Given the description of an element on the screen output the (x, y) to click on. 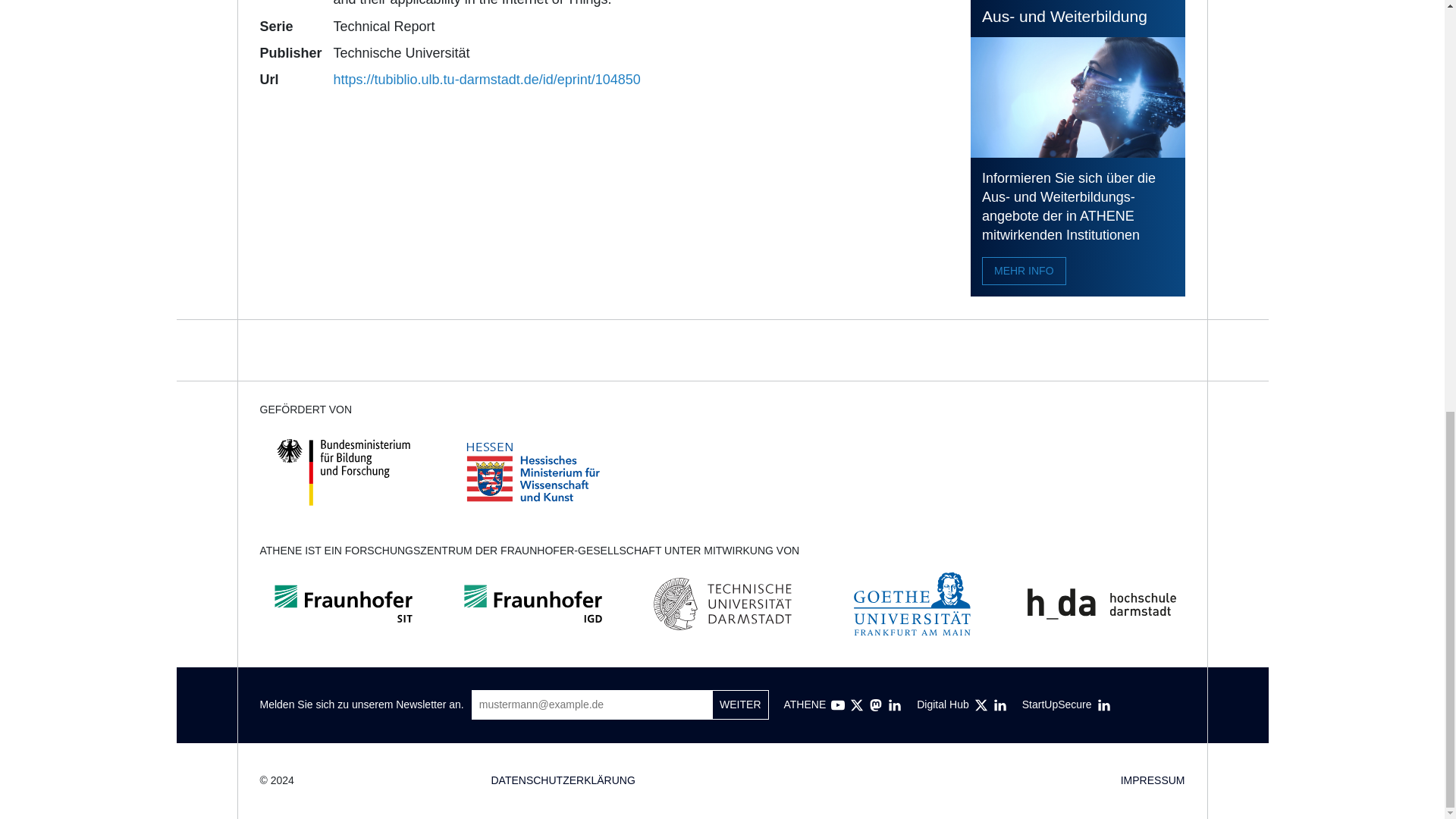
Twitter (856, 704)
LinkedIn (1103, 704)
Twitter (981, 704)
LinkedIn (999, 704)
LinkedIn (894, 704)
YouTube (837, 704)
Mastodon (875, 704)
